Given the description of an element on the screen output the (x, y) to click on. 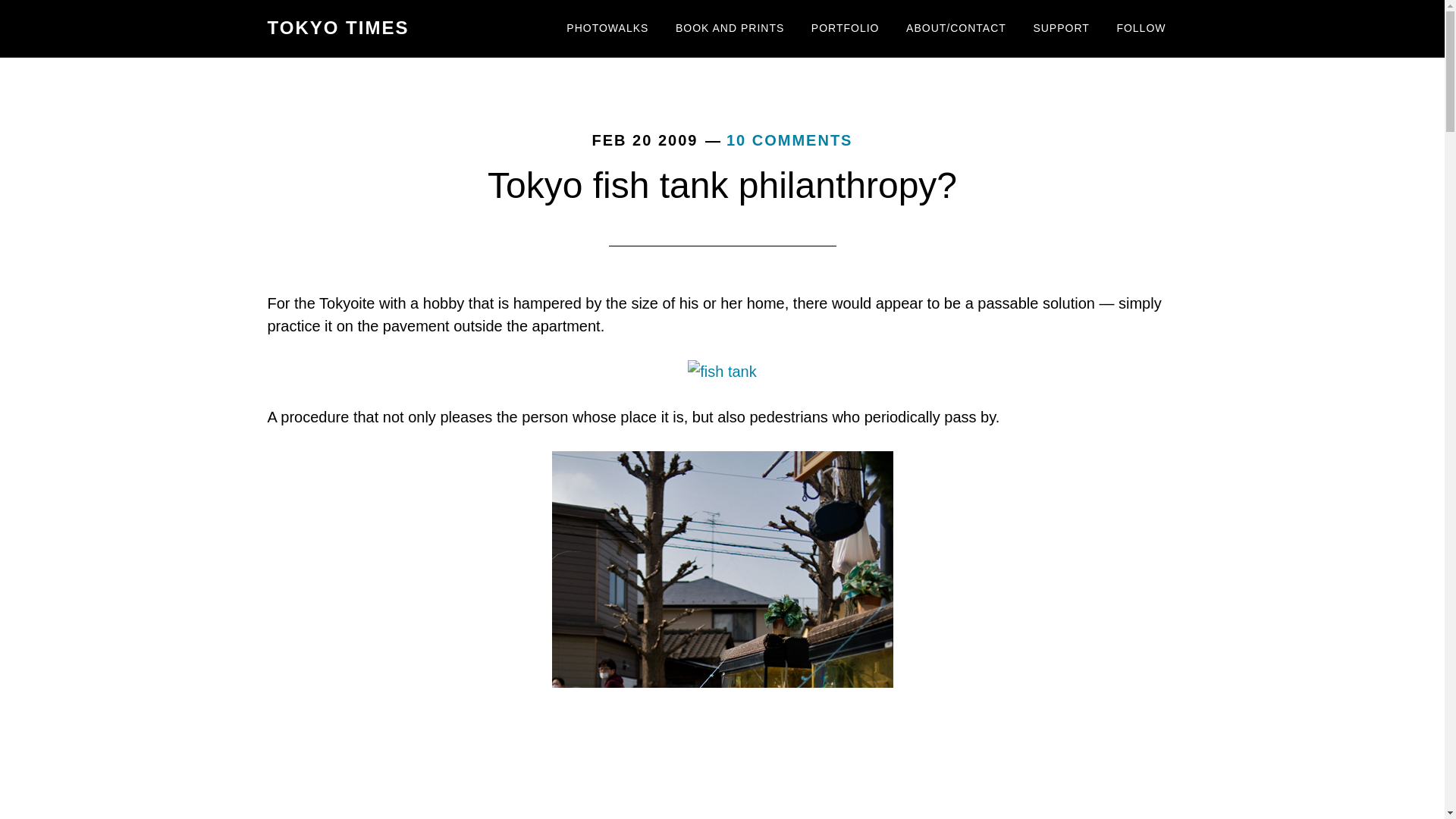
PORTFOLIO (845, 28)
BOOK AND PRINTS (728, 28)
10 COMMENTS (788, 139)
TOKYO TIMES (337, 27)
SUPPORT (1061, 28)
FOLLOW (1140, 28)
PHOTOWALKS (606, 28)
